Given the description of an element on the screen output the (x, y) to click on. 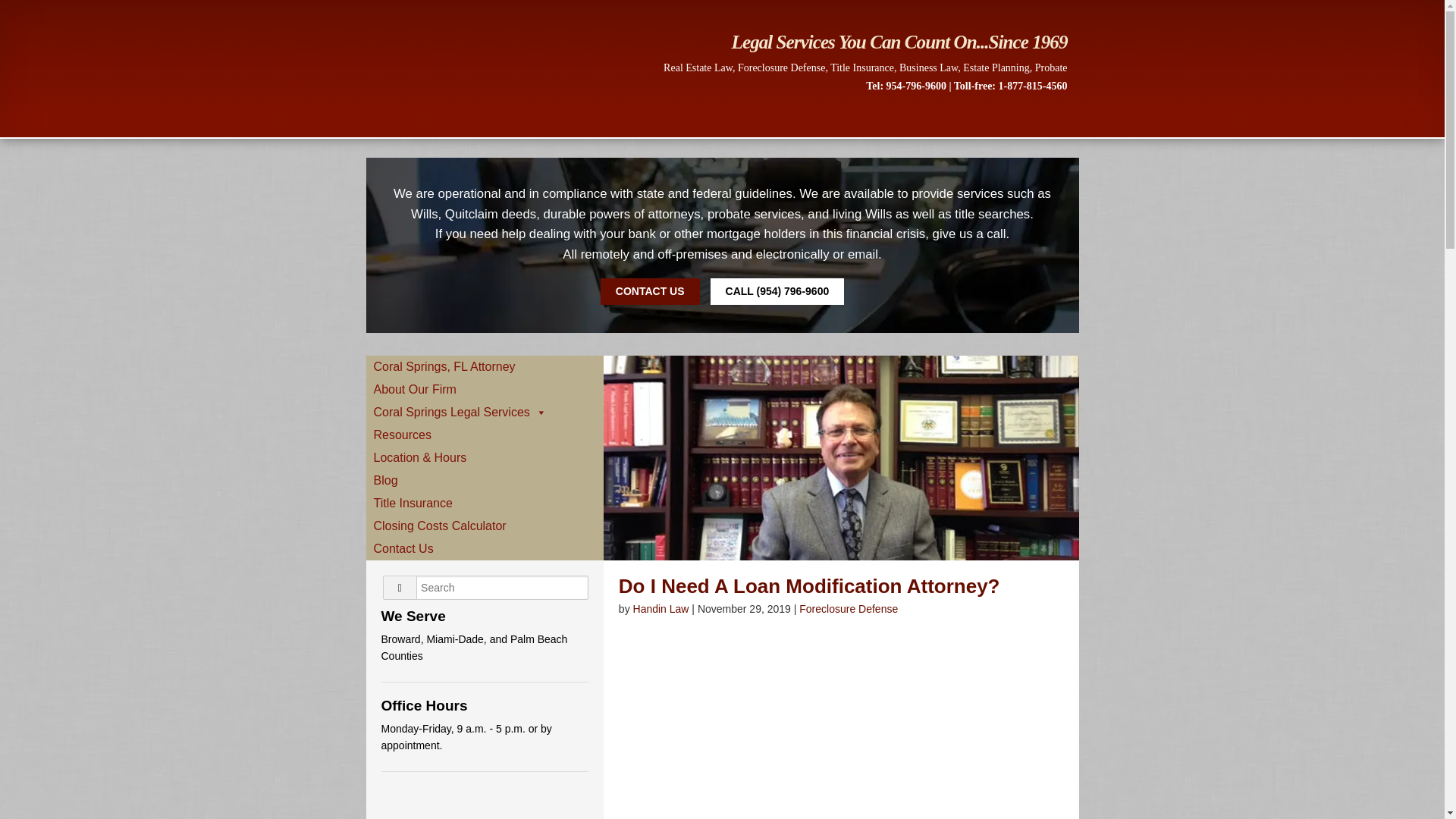
Closing Costs Calculator (483, 526)
View all articles by Handin Law (660, 608)
Title Insurance (483, 503)
Coral Springs, FL Attorney (483, 366)
Toll-free: 1-877-815-4560 (1010, 85)
Blog (483, 480)
Resources (483, 435)
About Our Firm (483, 389)
Tel: 954-796-9600 (906, 85)
Contact Us (483, 548)
